Given the description of an element on the screen output the (x, y) to click on. 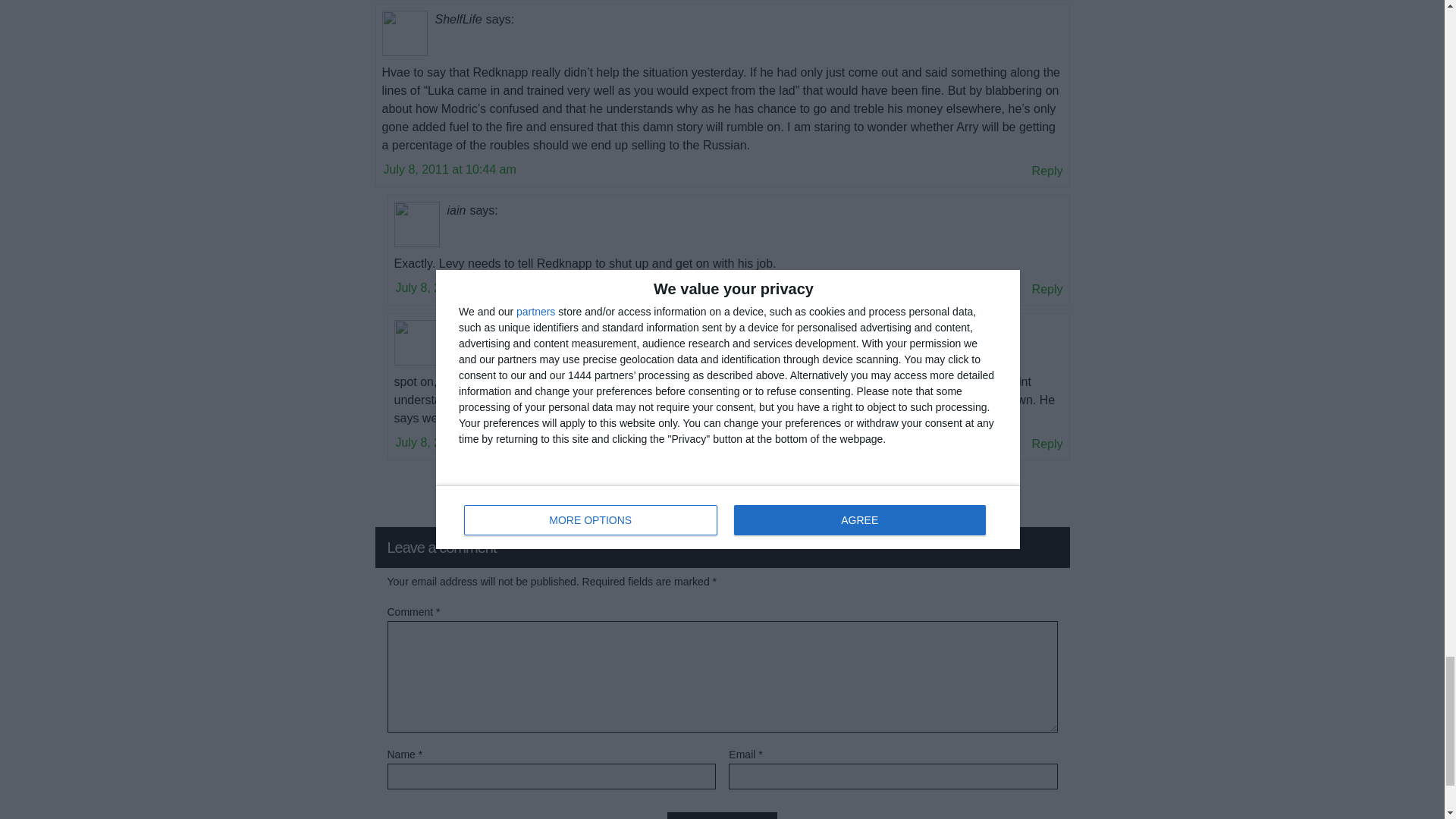
Post Comment (721, 815)
